Given the description of an element on the screen output the (x, y) to click on. 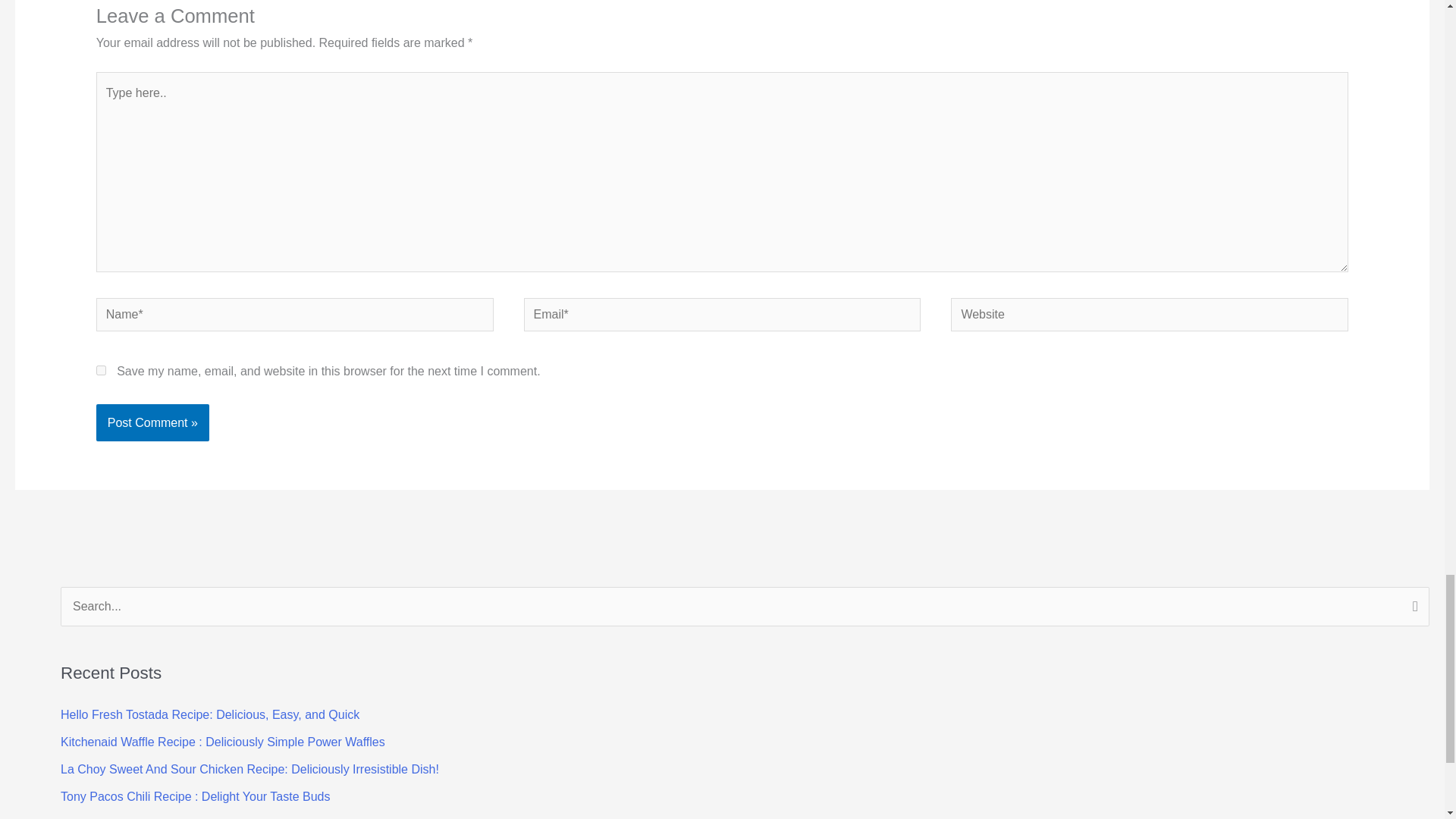
Tony Pacos Chili Recipe : Delight Your Taste Buds (195, 796)
Kitchenaid Waffle Recipe : Deliciously Simple Power Waffles (223, 741)
yes (101, 370)
Hello Fresh Tostada Recipe: Delicious, Easy, and Quick (210, 714)
